Given the description of an element on the screen output the (x, y) to click on. 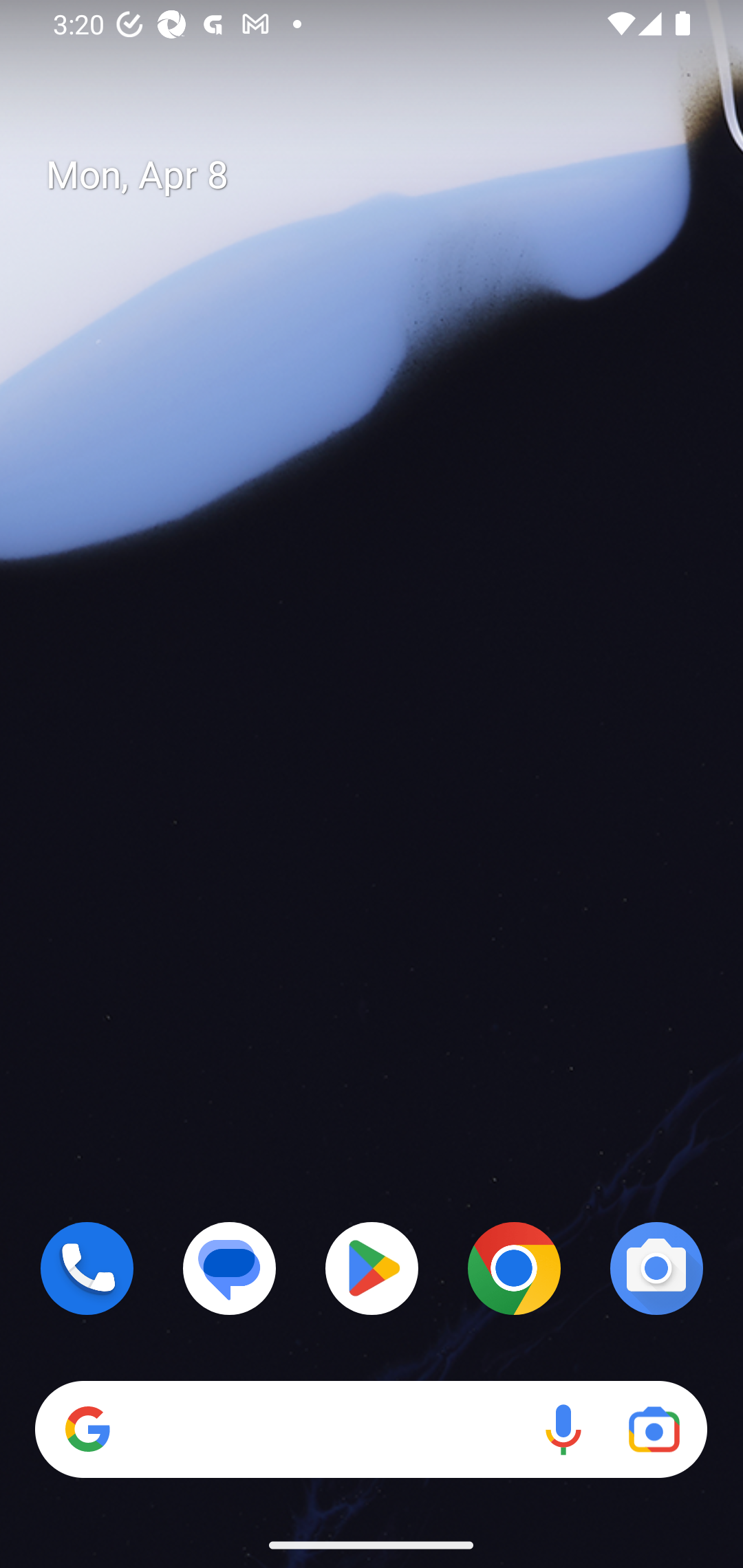
Mon, Apr 8 (386, 175)
Phone (86, 1268)
Messages (229, 1268)
Play Store (371, 1268)
Chrome (513, 1268)
Camera (656, 1268)
Search Voice search Google Lens (370, 1429)
Voice search (562, 1429)
Google Lens (653, 1429)
